Given the description of an element on the screen output the (x, y) to click on. 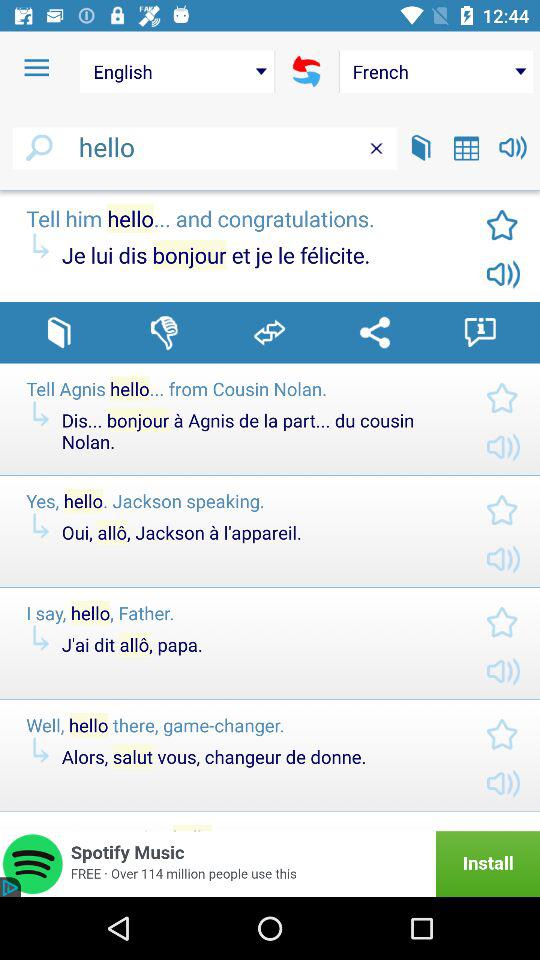
share translation (374, 332)
